Given the description of an element on the screen output the (x, y) to click on. 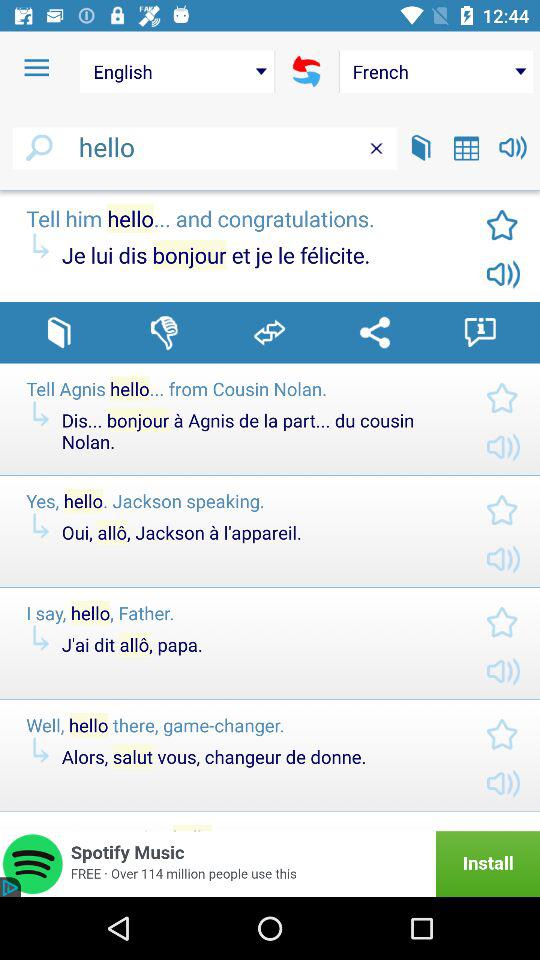
share translation (374, 332)
